Given the description of an element on the screen output the (x, y) to click on. 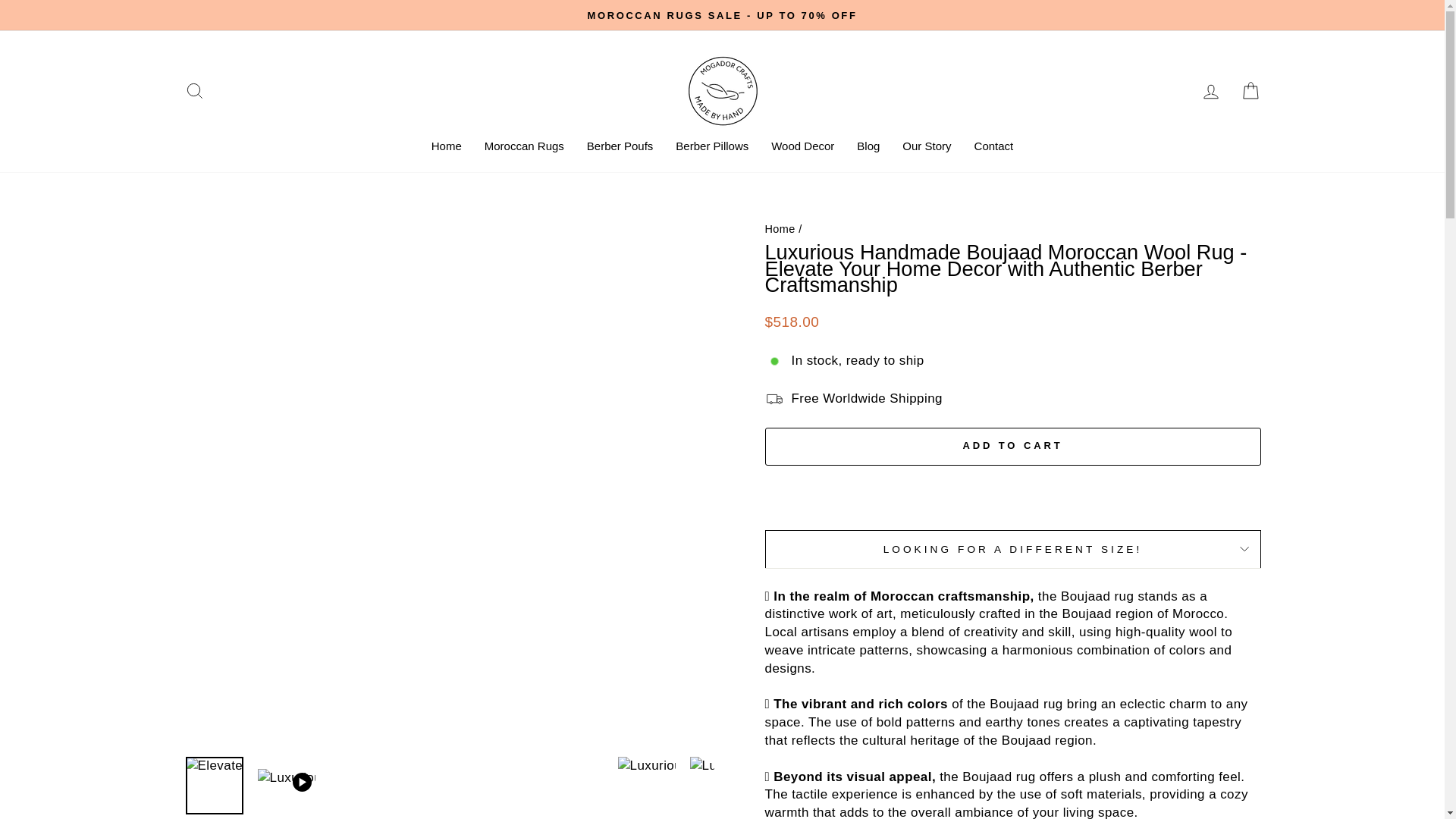
Cart (1249, 91)
Home (446, 146)
Search (194, 91)
Back to the frontpage (779, 228)
Moroccan Rugs (524, 146)
Log in (1210, 91)
